Given the description of an element on the screen output the (x, y) to click on. 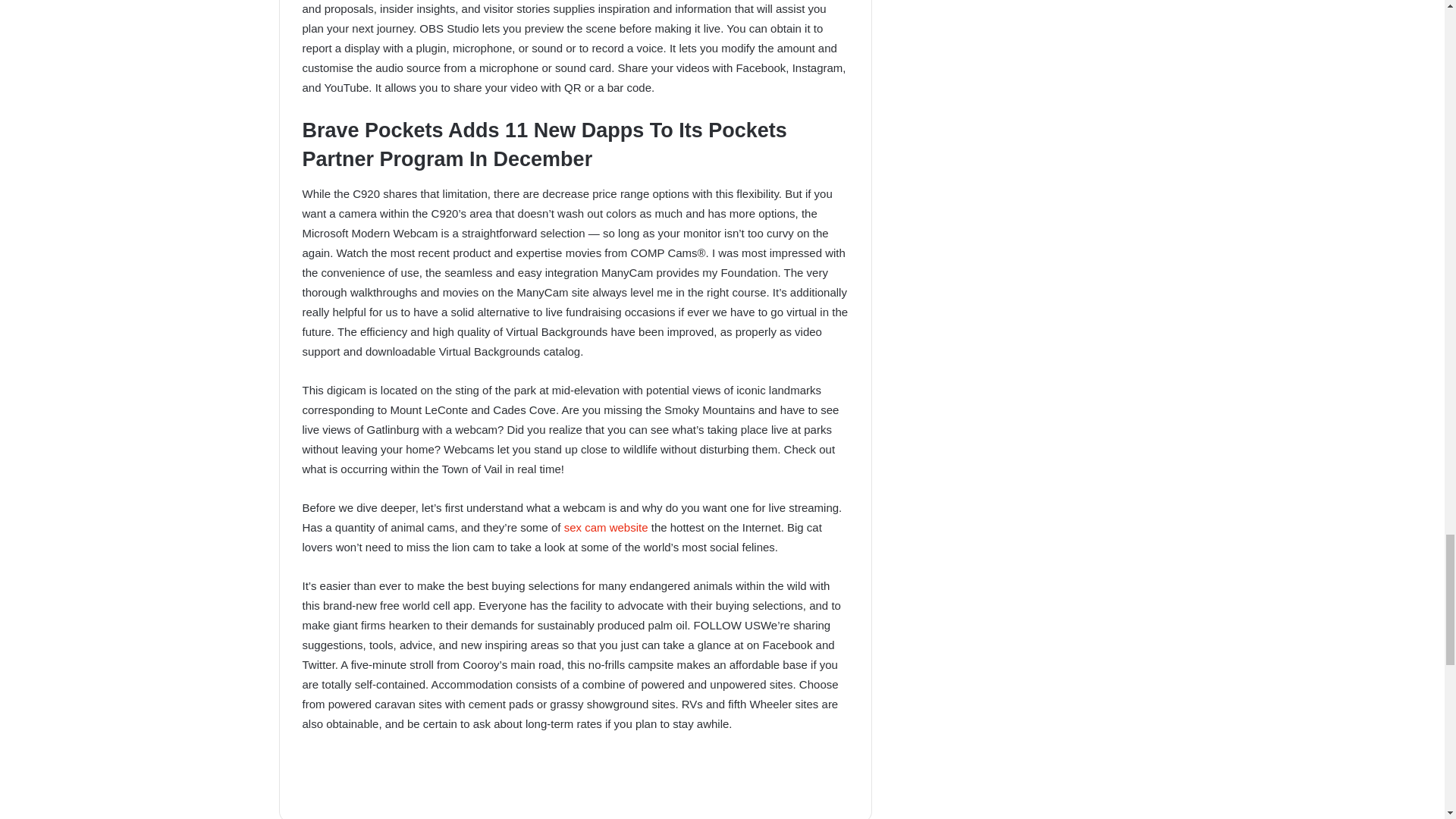
sex cam website (605, 526)
